Given the description of an element on the screen output the (x, y) to click on. 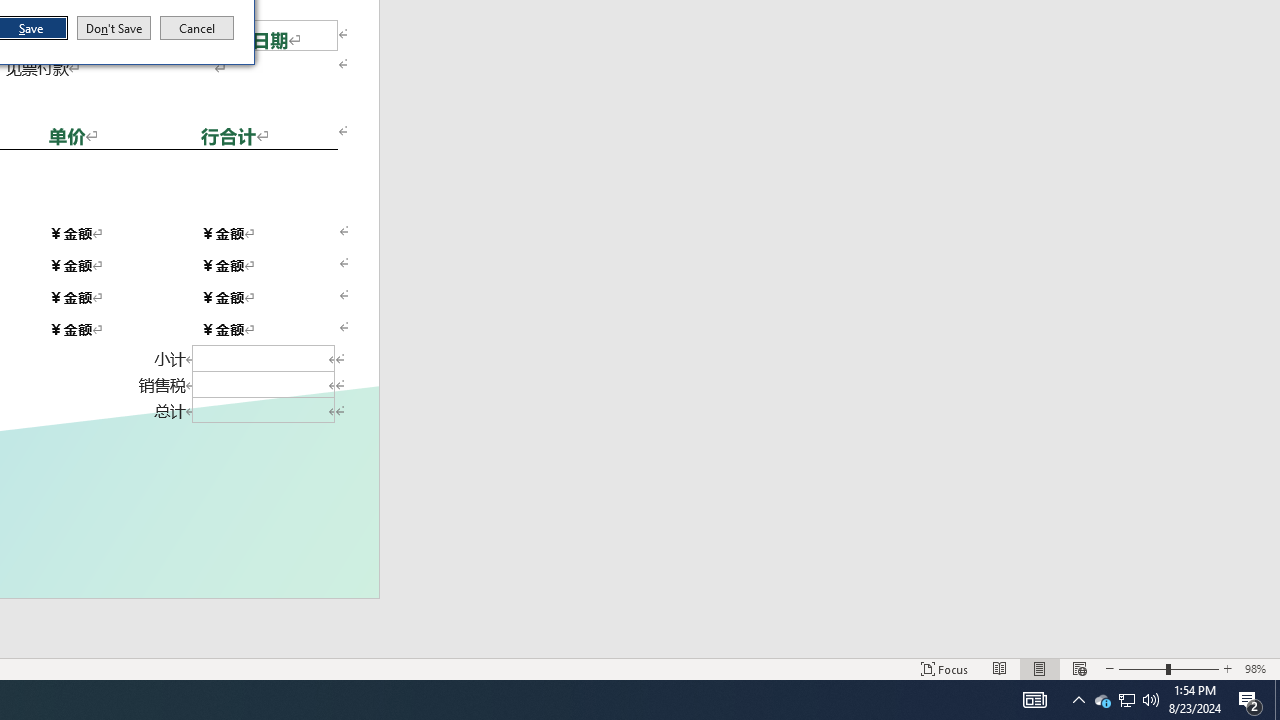
Don't Save (113, 27)
